Given the description of an element on the screen output the (x, y) to click on. 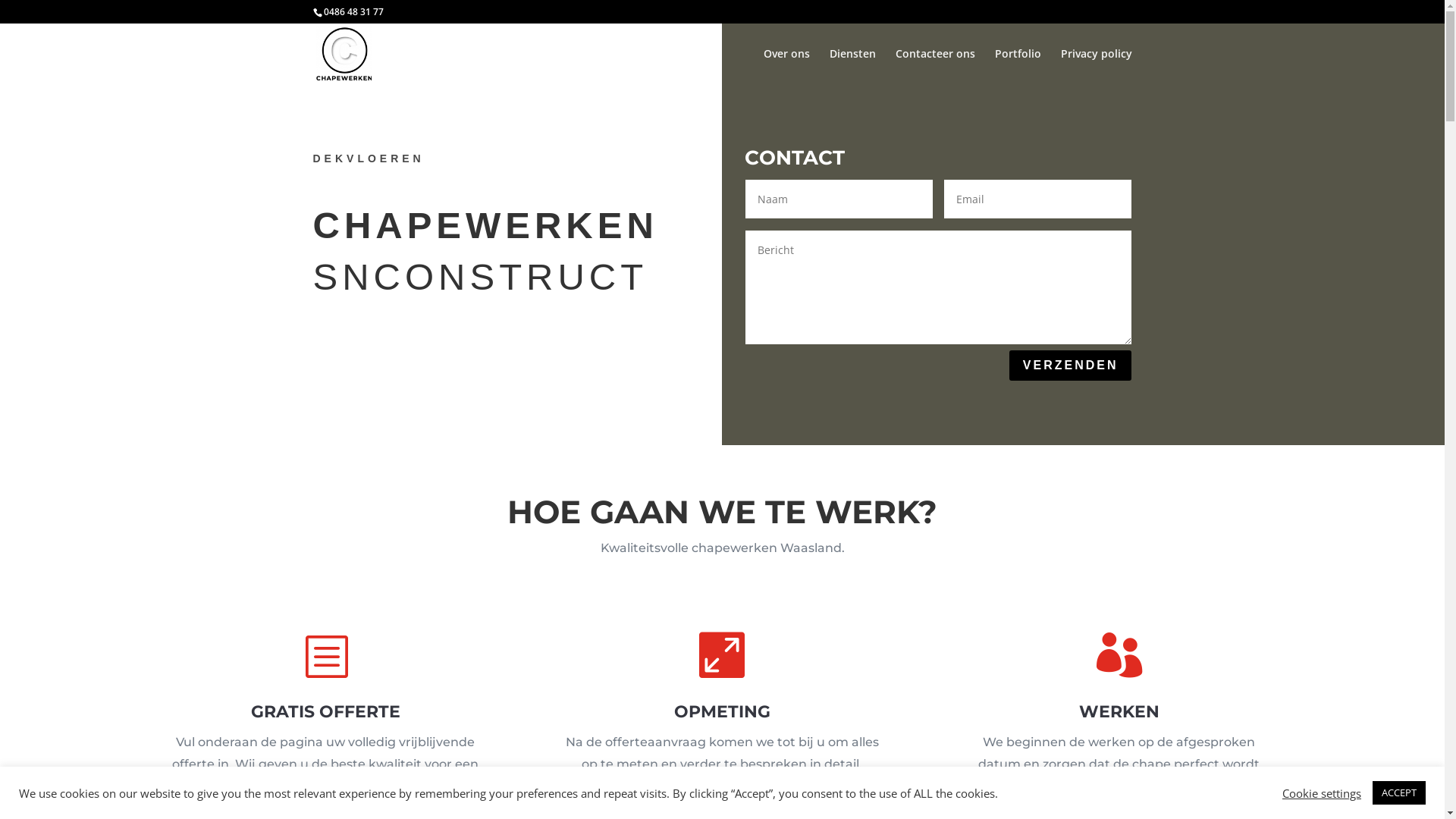
VERZENDEN Element type: text (1070, 365)
Over ons Element type: text (785, 66)
ACCEPT Element type: text (1398, 792)
Contacteer ons Element type: text (934, 66)
Cookie settings Element type: text (1321, 792)
Diensten Element type: text (852, 66)
Portfolio Element type: text (1017, 66)
Privacy policy Element type: text (1095, 66)
